Given the description of an element on the screen output the (x, y) to click on. 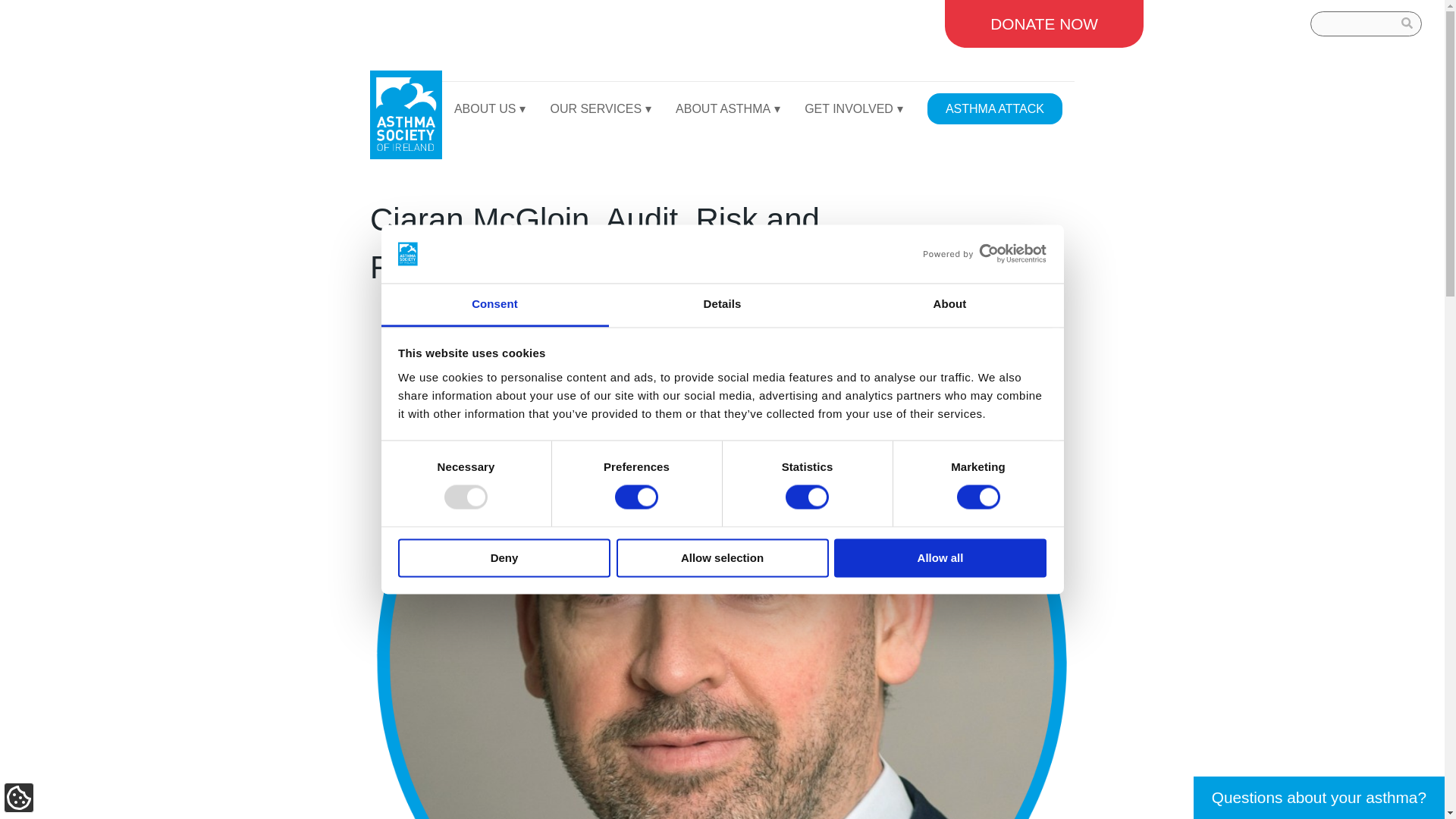
Consent (494, 304)
Details (721, 304)
About (948, 304)
